Given the description of an element on the screen output the (x, y) to click on. 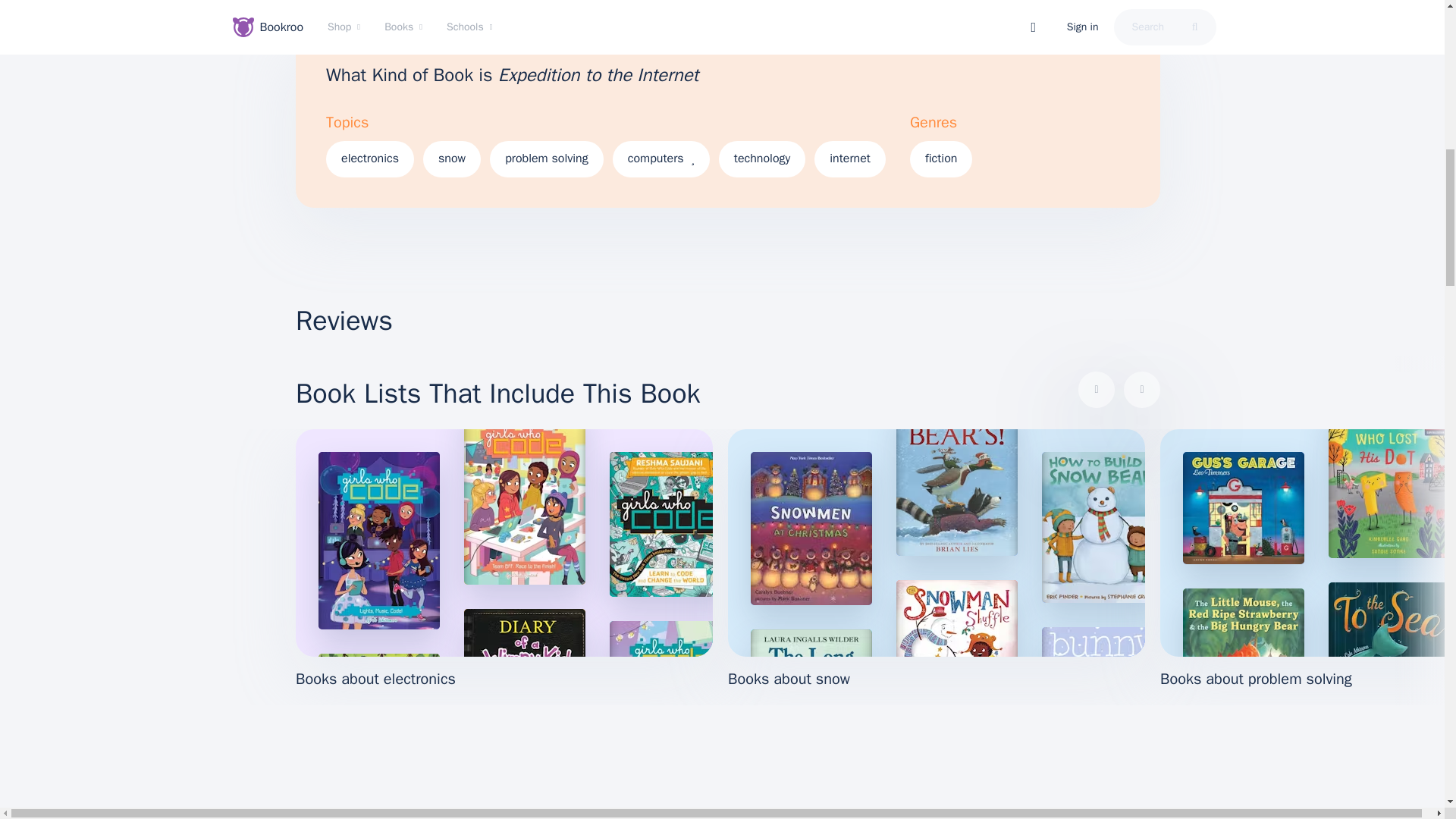
internet (849, 158)
fiction (941, 158)
computers   (661, 158)
Books about electronics (504, 559)
Books about snow (936, 559)
snow (451, 158)
problem solving (546, 158)
electronics (369, 158)
technology (762, 158)
